Given the description of an element on the screen output the (x, y) to click on. 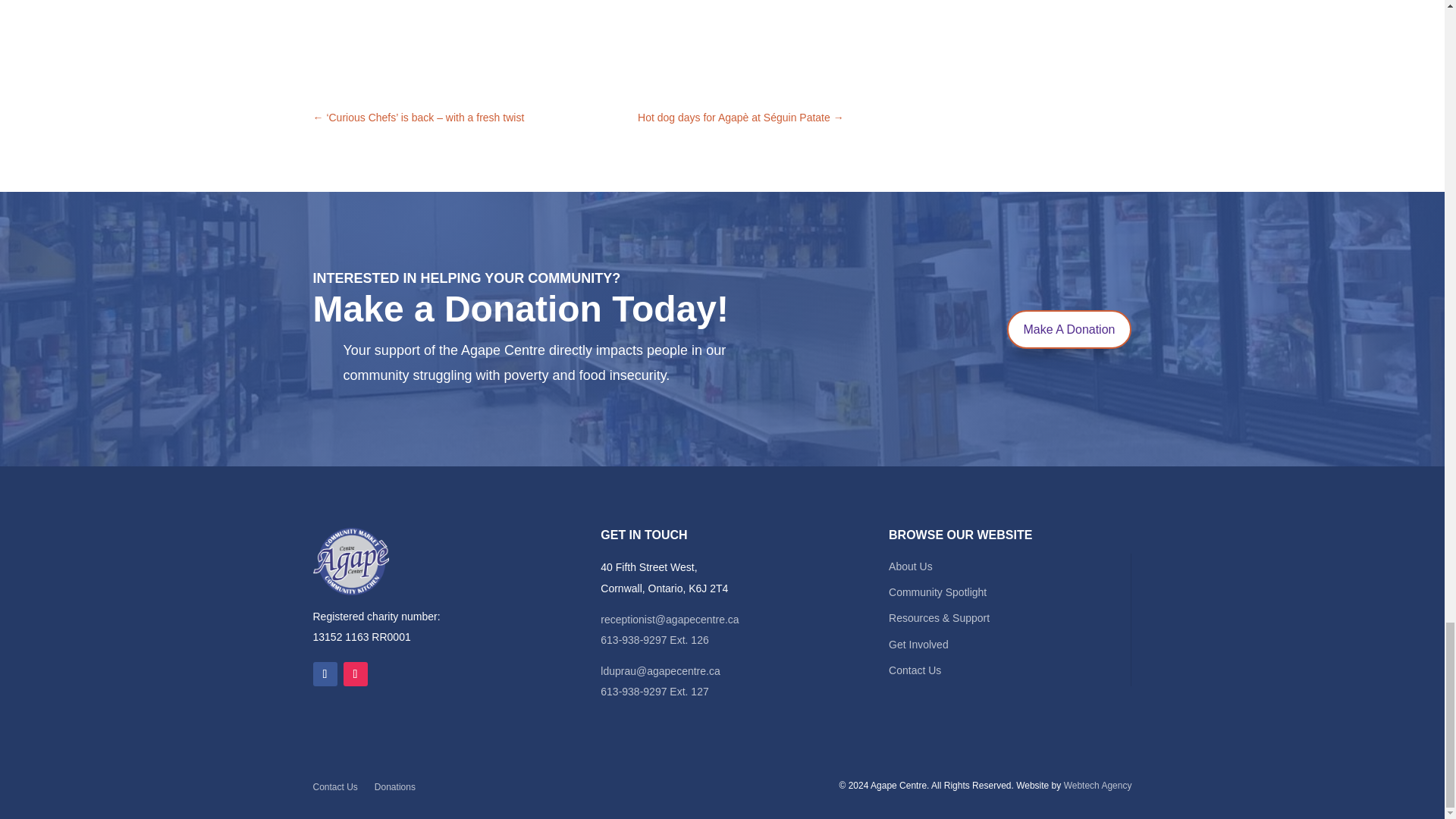
Follow on Facebook (324, 673)
Follow on Instagram (354, 673)
